Given the description of an element on the screen output the (x, y) to click on. 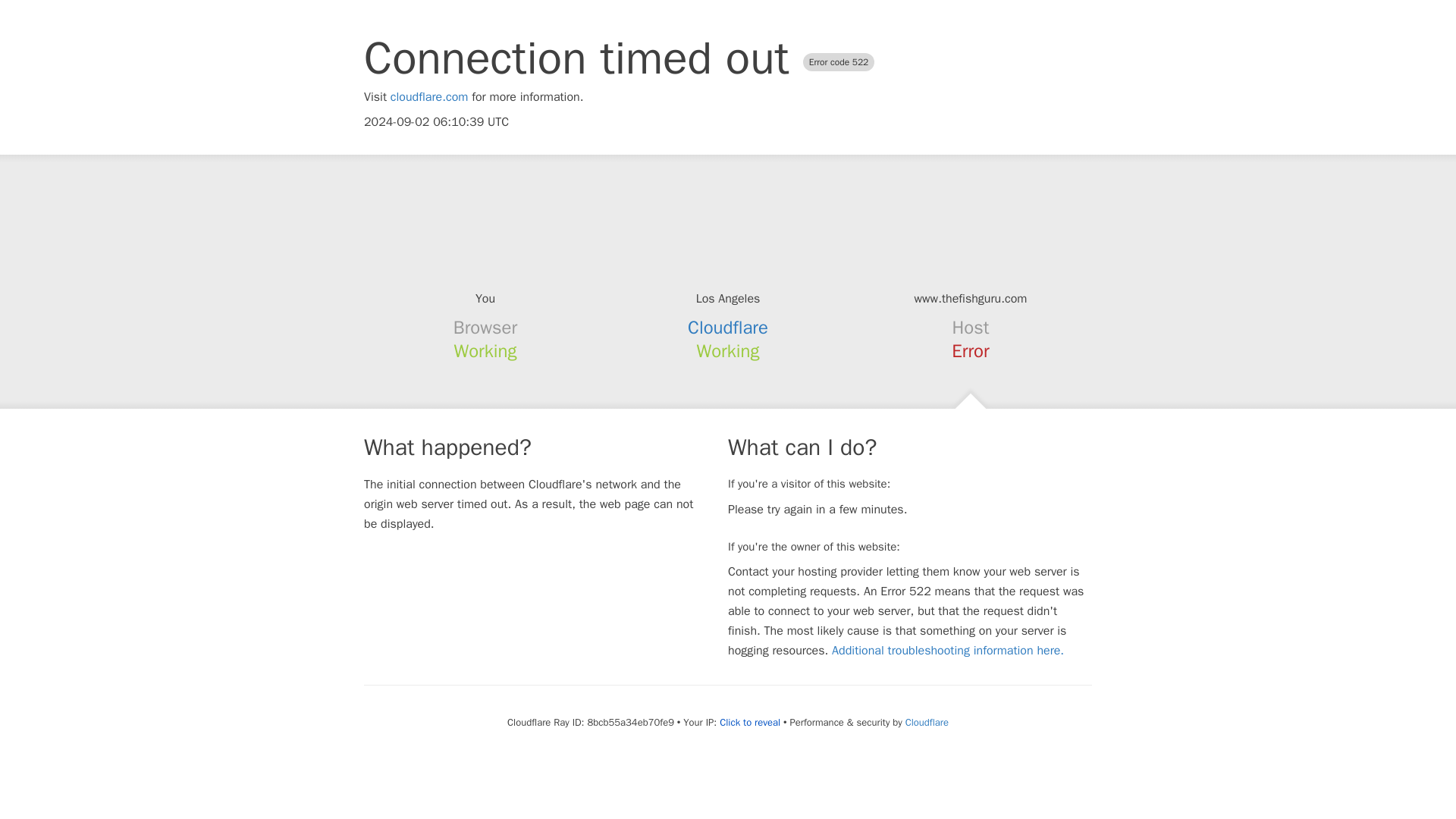
cloudflare.com (429, 96)
Cloudflare (727, 327)
Click to reveal (749, 722)
Cloudflare (927, 721)
Additional troubleshooting information here. (947, 650)
